Given the description of an element on the screen output the (x, y) to click on. 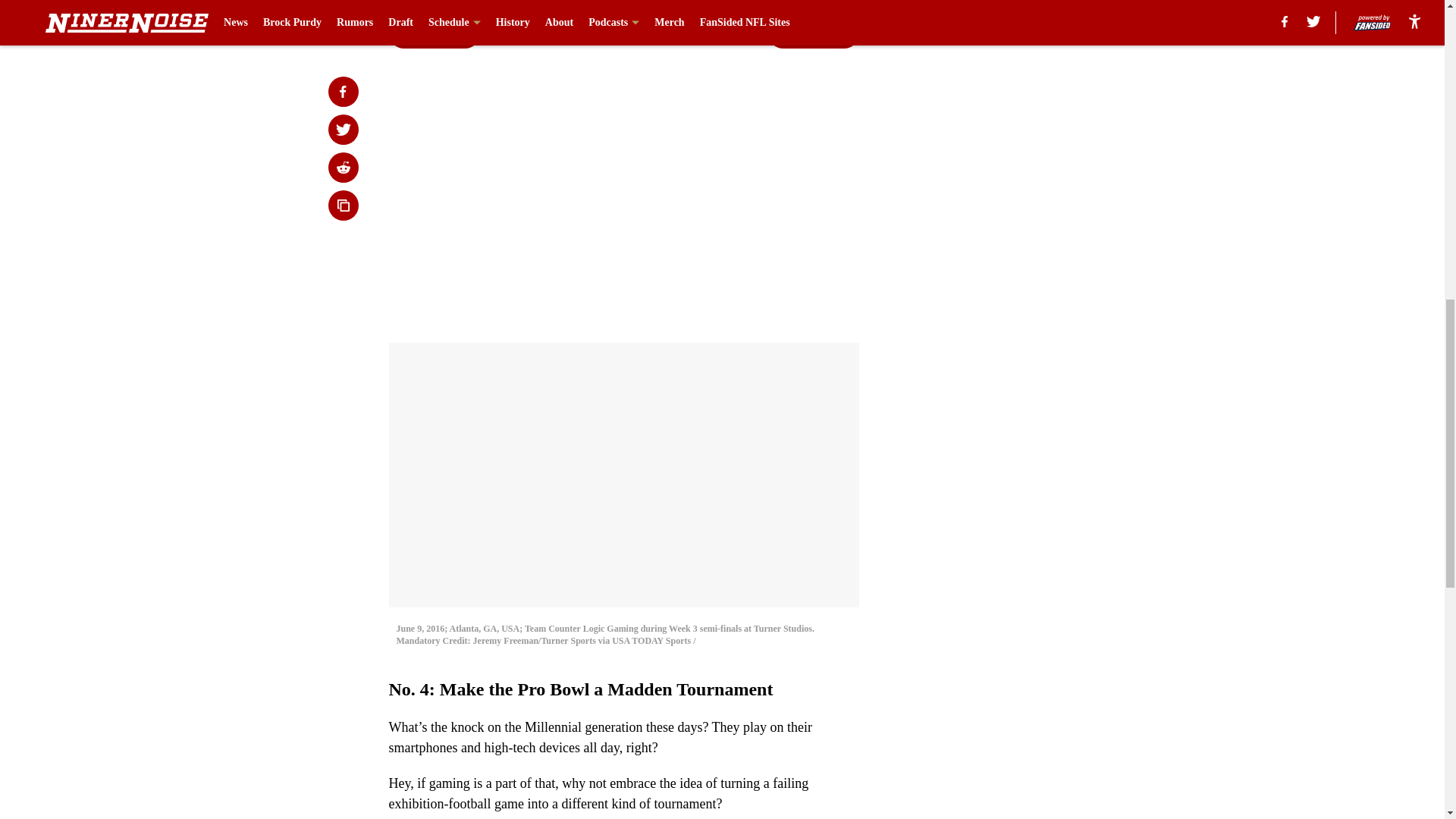
Next (813, 33)
Prev (433, 33)
